Given the description of an element on the screen output the (x, y) to click on. 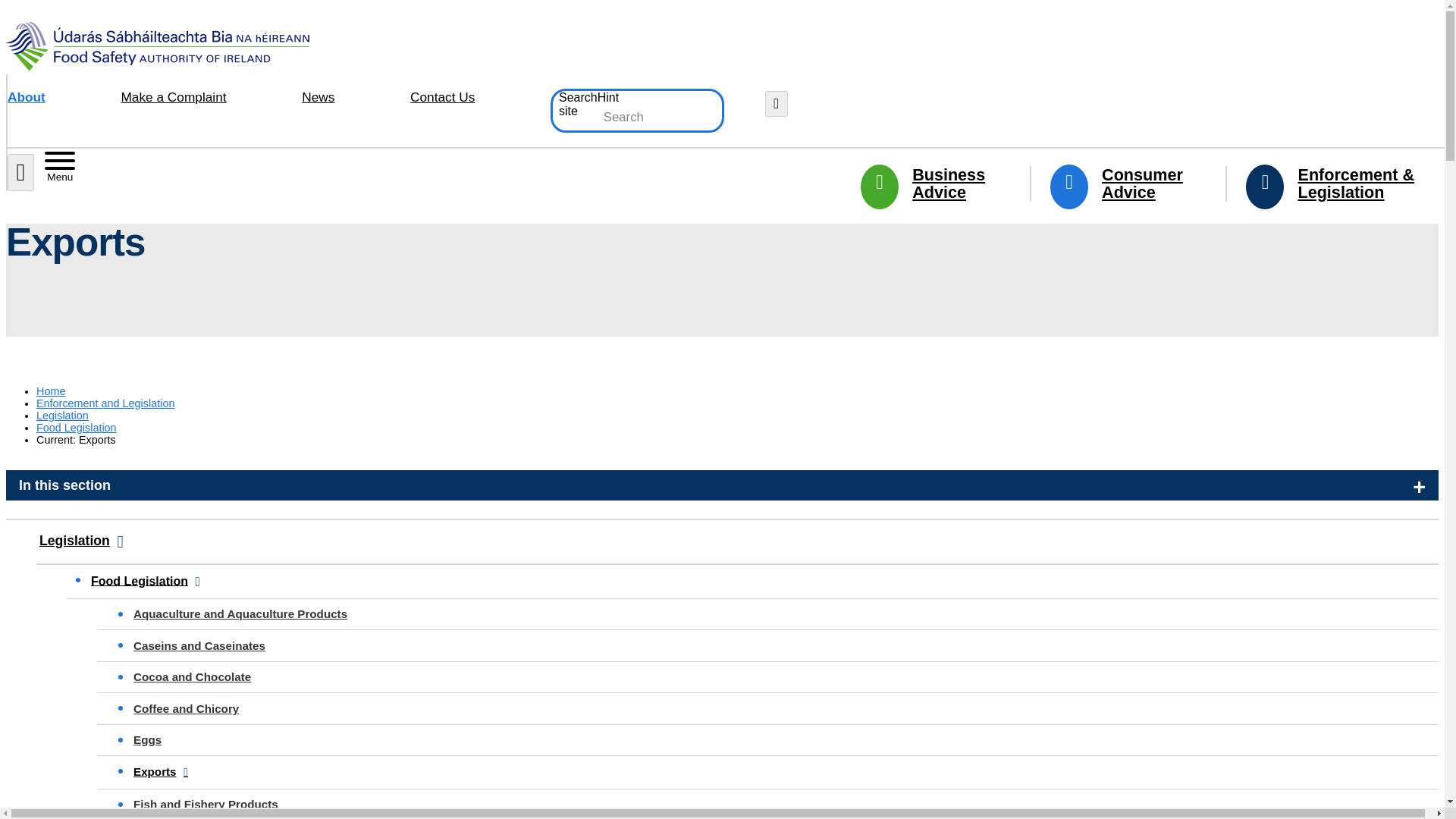
News (317, 98)
Contact Us (442, 98)
Caseins and Caseinates (773, 644)
Exports (773, 771)
News (317, 98)
Eggs (773, 739)
Food Legislation (76, 427)
Food Legislation (76, 427)
In this section (721, 485)
Enforcement and Legislation (105, 403)
Home (50, 390)
Business Advice (932, 184)
Consumer Advice (1124, 184)
Legislation (62, 415)
Legislation (62, 415)
